Given the description of an element on the screen output the (x, y) to click on. 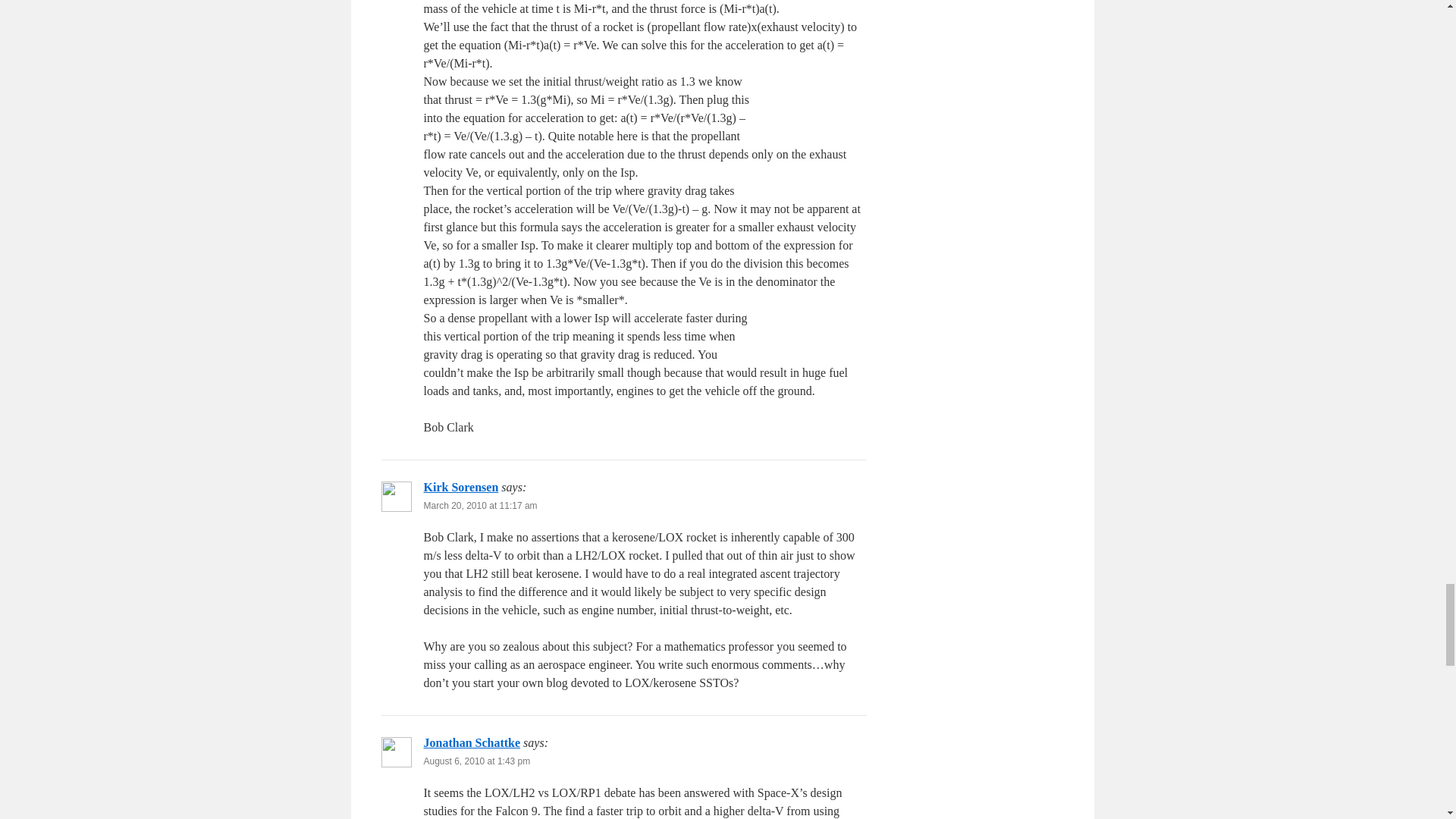
August 6, 2010 at 1:43 pm (476, 760)
Jonathan Schattke (471, 742)
March 20, 2010 at 11:17 am (480, 505)
Kirk Sorensen (460, 486)
